Given the description of an element on the screen output the (x, y) to click on. 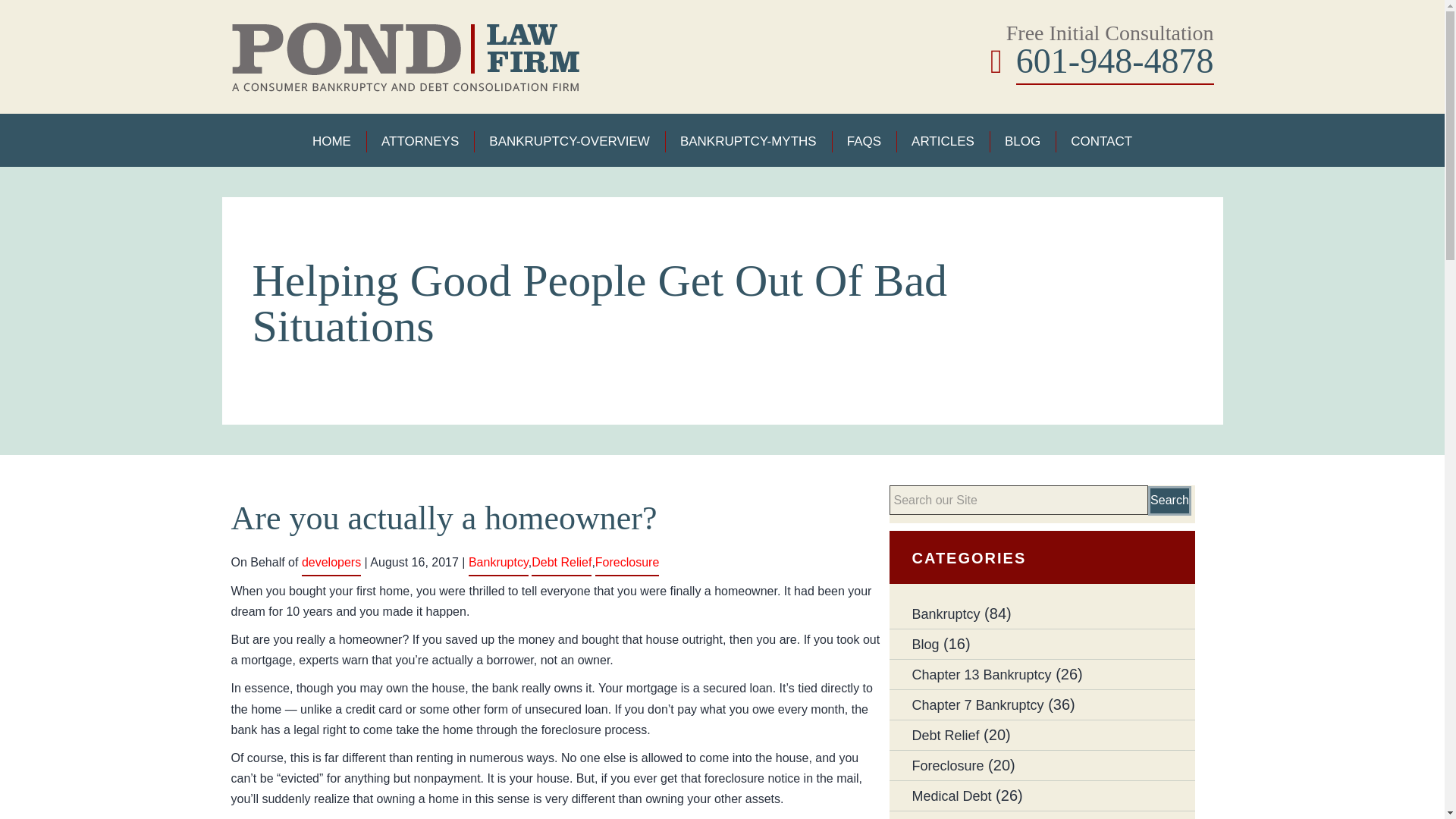
ARTICLES (942, 141)
601-948-4878 (1115, 60)
Debt Relief (944, 735)
developers (331, 562)
Bankruptcy (945, 614)
Chapter 7 Bankruptcy (977, 705)
Foreclosure (627, 562)
Foreclosure (947, 766)
Medical Debt (951, 796)
Search (1169, 500)
BANKRUPTCY-MYTHS (747, 141)
BLOG (1022, 141)
CONTACT (1101, 141)
Blog (925, 644)
